Given the description of an element on the screen output the (x, y) to click on. 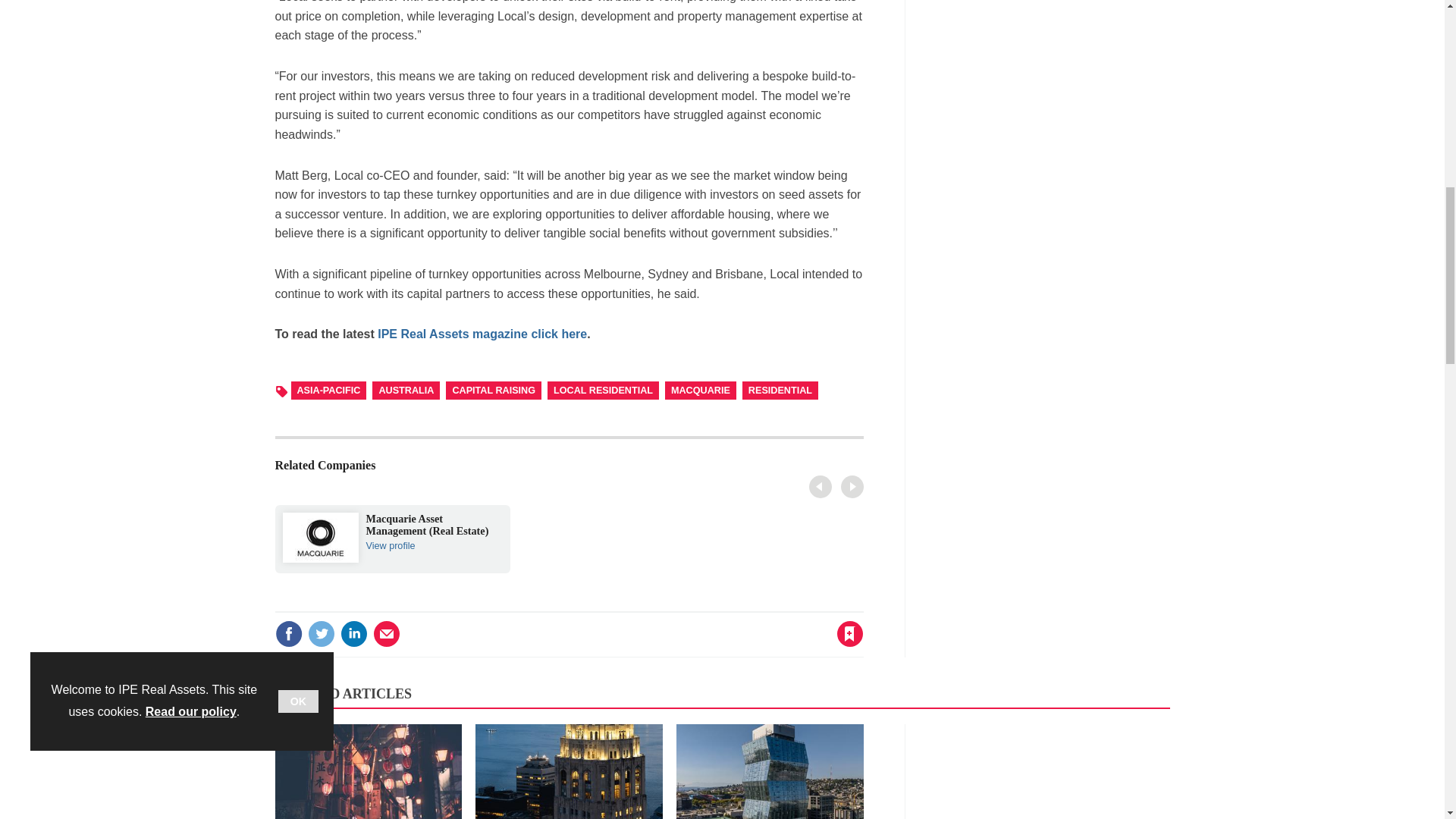
Share this on Linked in (352, 633)
Share this on Facebook (288, 633)
Share this on Twitter (320, 633)
Email this article (826, 488)
